Given the description of an element on the screen output the (x, y) to click on. 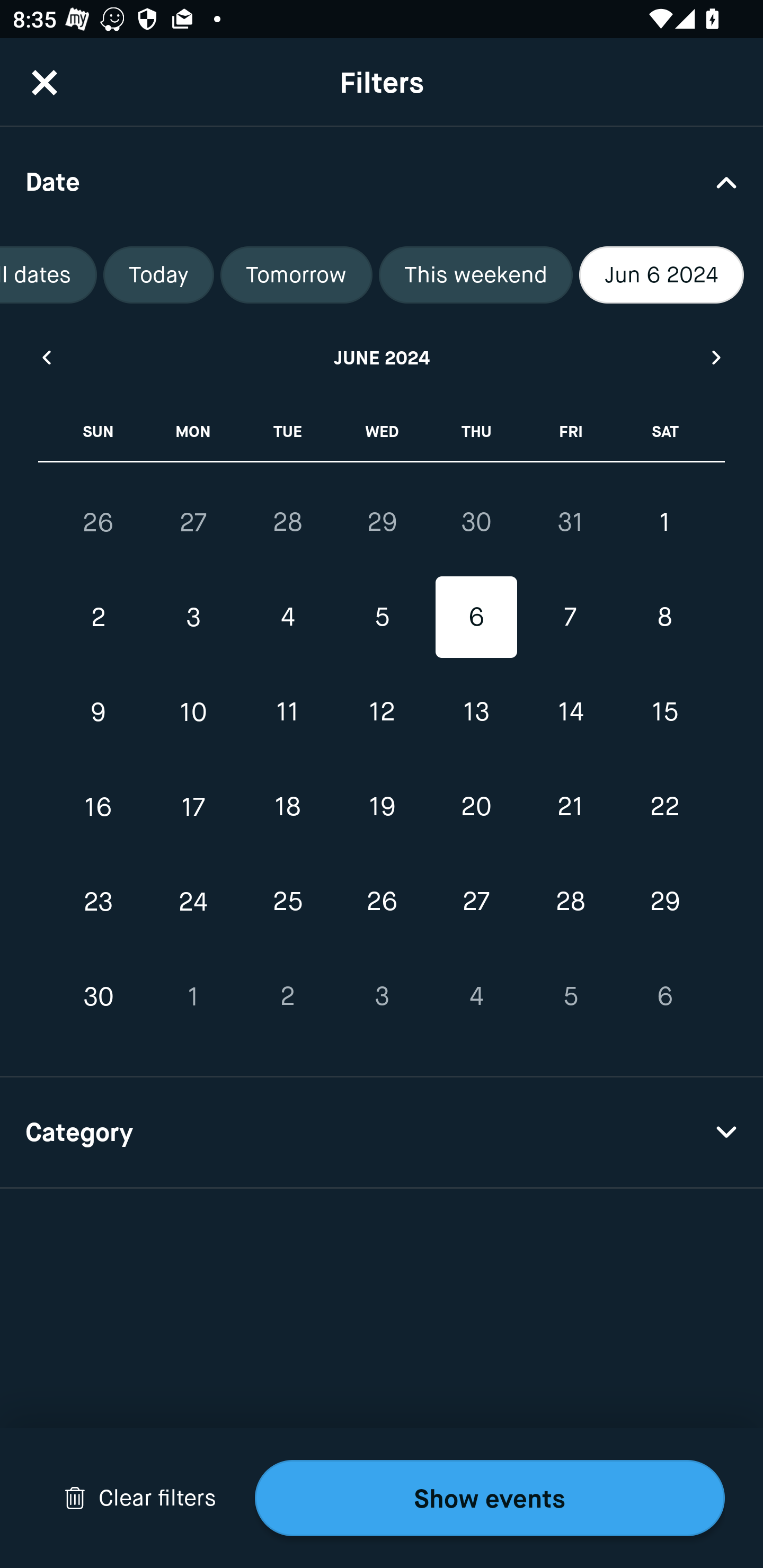
CloseButton (44, 82)
Date Drop Down Arrow (381, 181)
All dates (48, 274)
Today (158, 274)
Tomorrow (296, 274)
This weekend (476, 274)
Jun 6 2024 (661, 274)
Previous (45, 357)
Next (717, 357)
26 (98, 522)
27 (192, 522)
28 (287, 522)
29 (381, 522)
30 (475, 522)
31 (570, 522)
1 (664, 522)
2 (98, 617)
3 (192, 617)
4 (287, 617)
5 (381, 617)
6 (475, 617)
7 (570, 617)
8 (664, 617)
9 (98, 711)
10 (192, 711)
11 (287, 711)
12 (381, 711)
13 (475, 711)
14 (570, 711)
15 (664, 711)
16 (98, 806)
17 (192, 806)
18 (287, 806)
19 (381, 806)
20 (475, 806)
21 (570, 806)
22 (664, 806)
23 (98, 901)
24 (192, 901)
25 (287, 901)
26 (381, 901)
27 (475, 901)
28 (570, 901)
29 (664, 901)
30 (98, 996)
1 (192, 996)
2 (287, 996)
3 (381, 996)
4 (475, 996)
5 (570, 996)
